Given the description of an element on the screen output the (x, y) to click on. 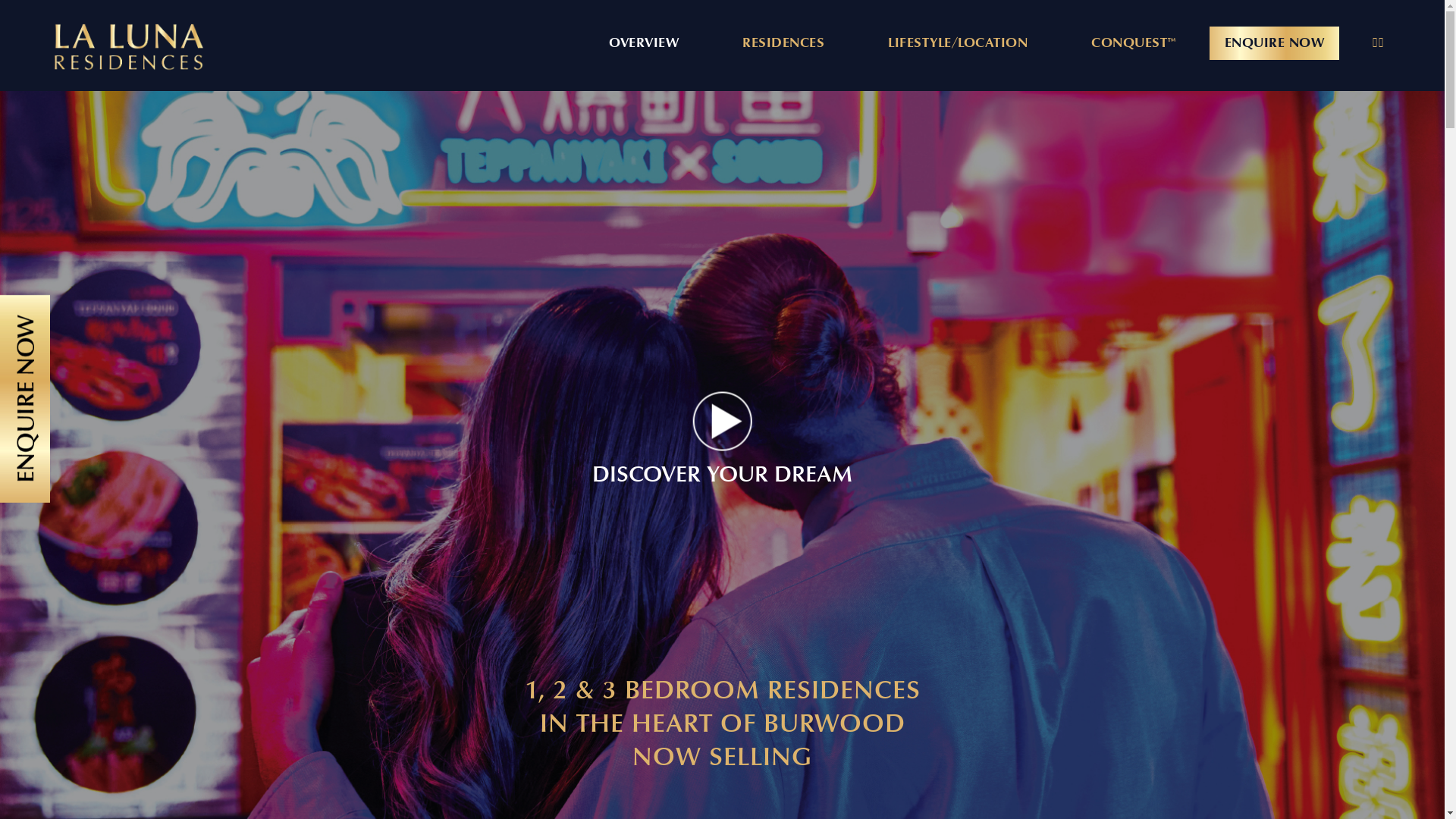
DISCOVER YOUR DREAM Element type: text (722, 455)
OVERVIEW Element type: text (643, 42)
ENQUIRE NOW Element type: text (1273, 42)
LIFESTYLE/LOCATION Element type: text (957, 42)
Overview - La Luna Residences Element type: hover (128, 45)
RESIDENCES Element type: text (783, 42)
